Given the description of an element on the screen output the (x, y) to click on. 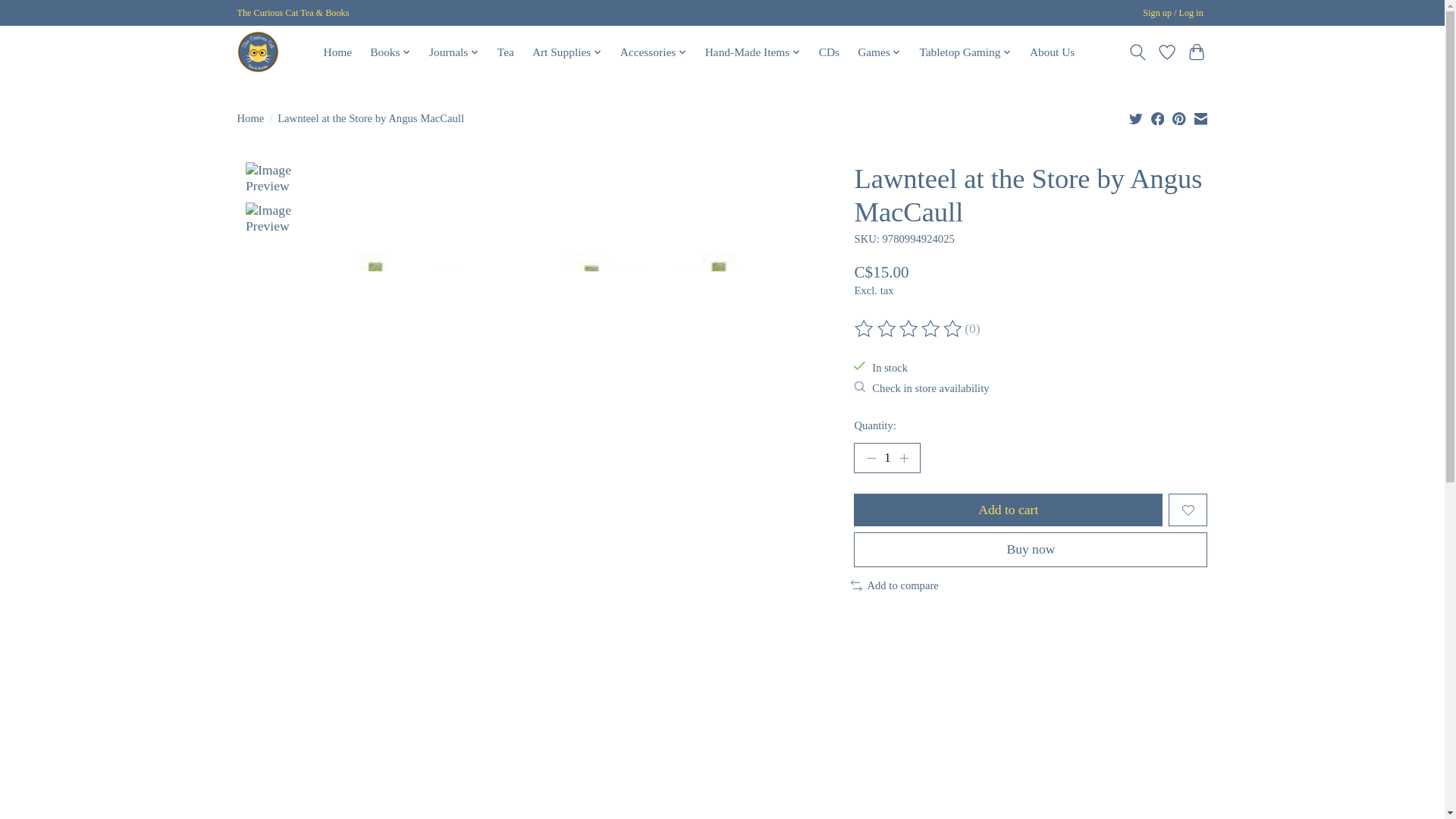
Share on Twitter (1135, 118)
Share on Pinterest (1178, 118)
Share by Email (1200, 118)
1 (886, 458)
The Curious Cat Tea and Books (256, 51)
Books (390, 52)
Home (336, 52)
Share on Facebook (1157, 118)
My account (1173, 13)
